Given the description of an element on the screen output the (x, y) to click on. 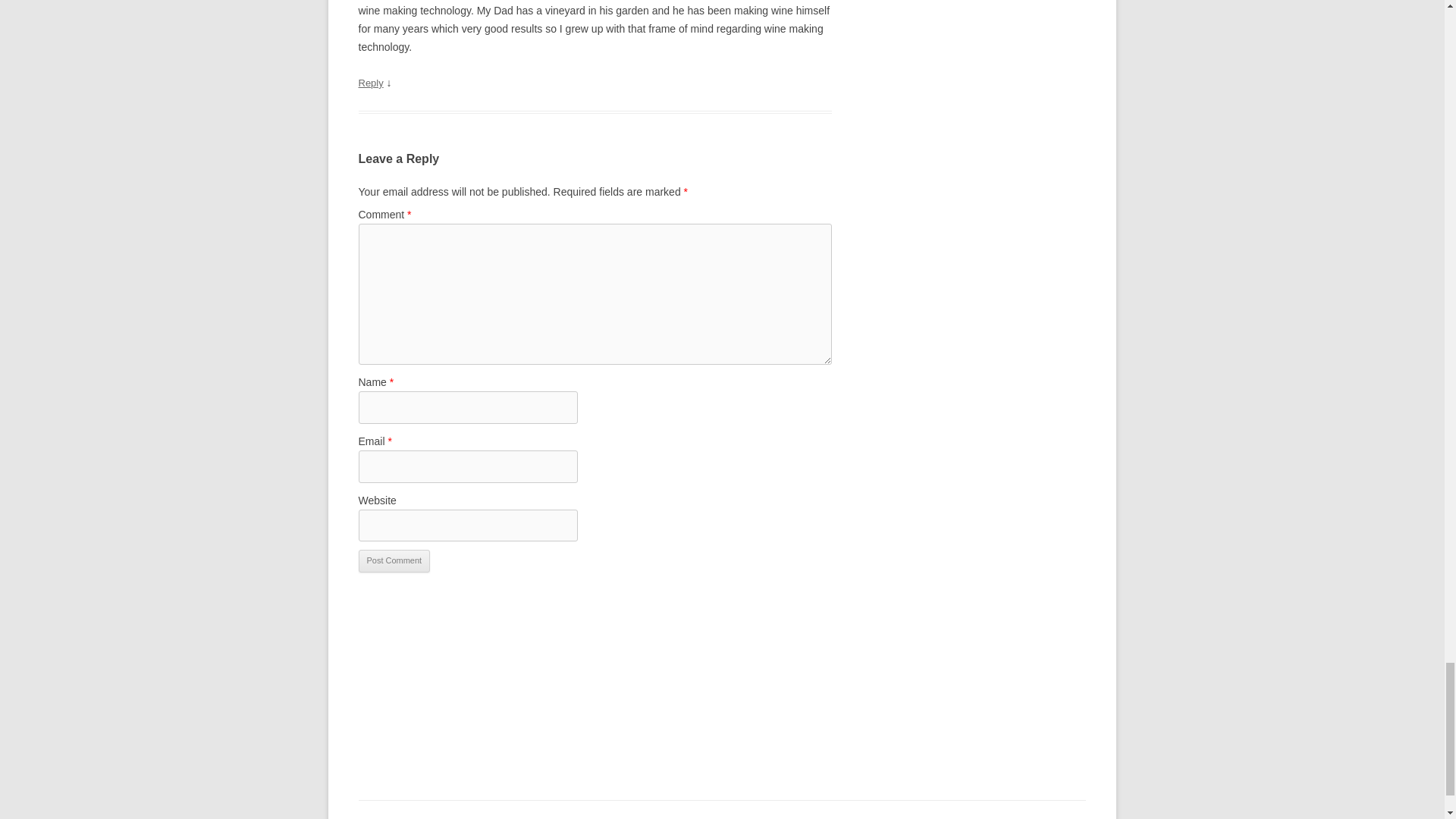
Post Comment (393, 560)
